Given the description of an element on the screen output the (x, y) to click on. 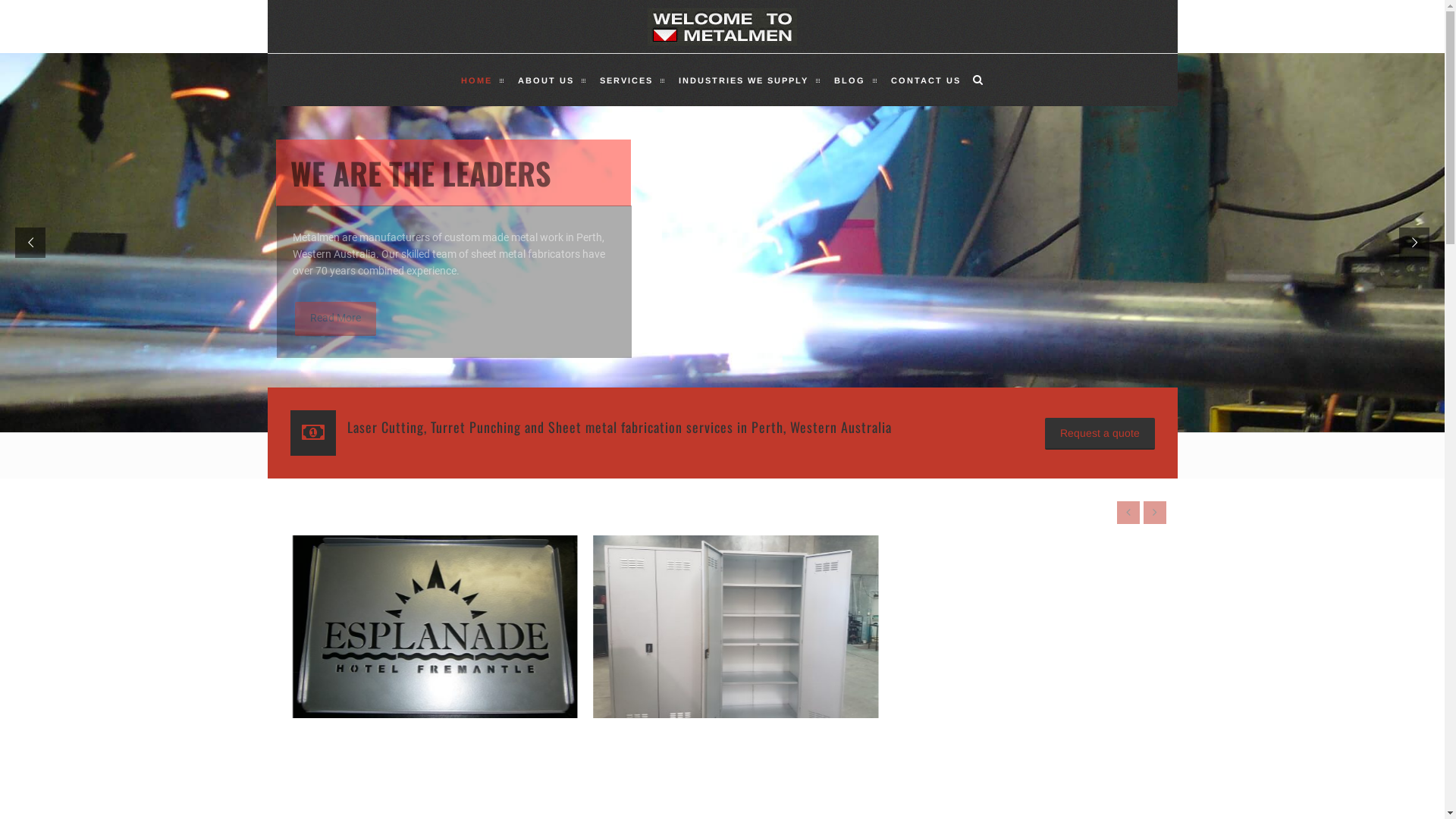
CONTACT US Element type: text (925, 79)
ABOUT US Element type: text (545, 79)
HOME Element type: text (476, 79)
Request a quote Element type: text (1099, 433)
BLOG Element type: text (849, 79)
SERVICES Element type: text (626, 79)
Read More Element type: text (335, 318)
Laser Cutting Element type: hover (722, 626)
INDUSTRIES WE SUPPLY Element type: text (743, 79)
Metal Punching Element type: hover (421, 626)
